Given the description of an element on the screen output the (x, y) to click on. 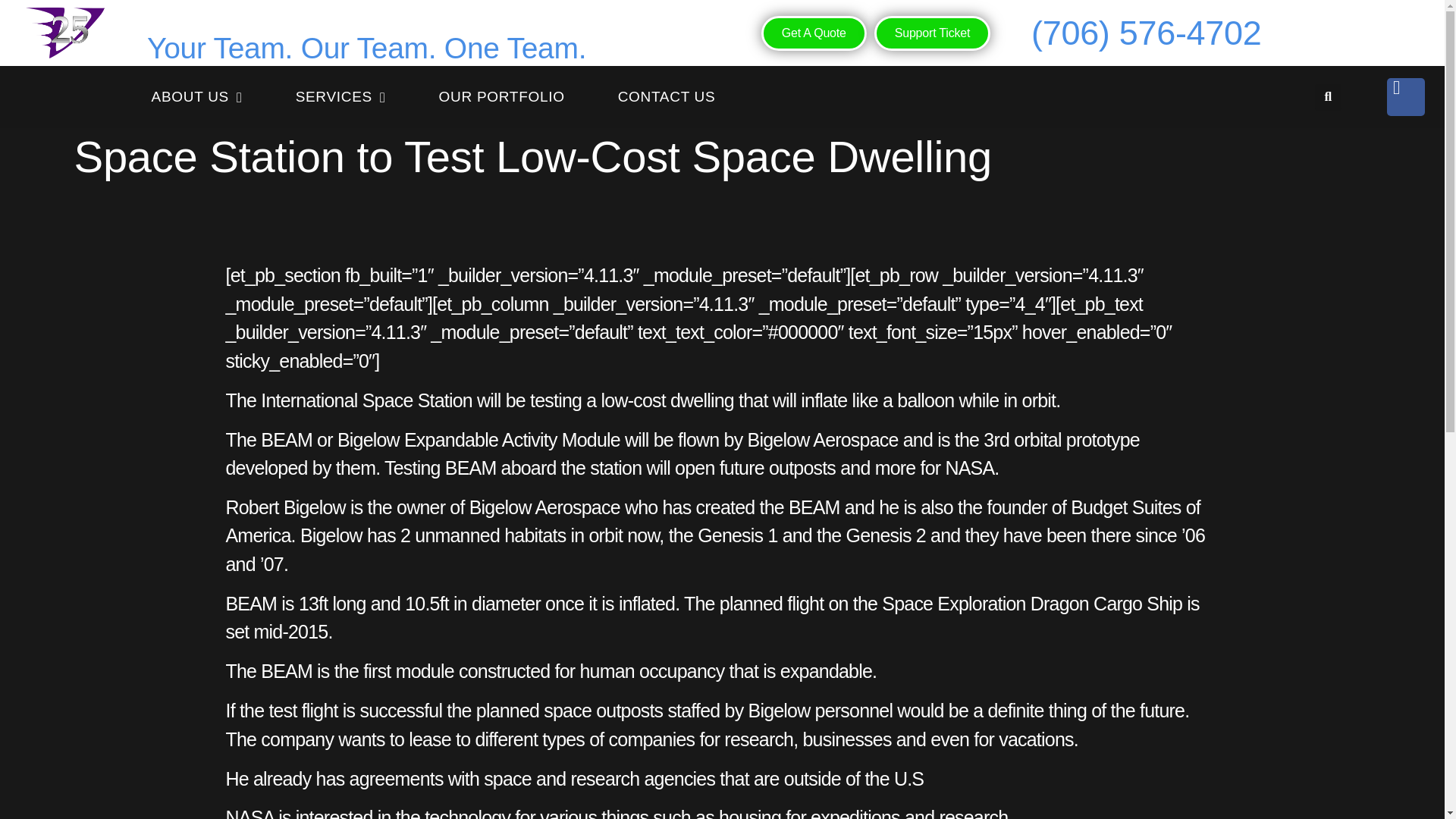
CONTACT US (666, 96)
OUR PORTFOLIO (502, 96)
Support Ticket (932, 32)
Get A Quote (813, 32)
ABOUT US (196, 96)
SERVICES (341, 96)
